Given the description of an element on the screen output the (x, y) to click on. 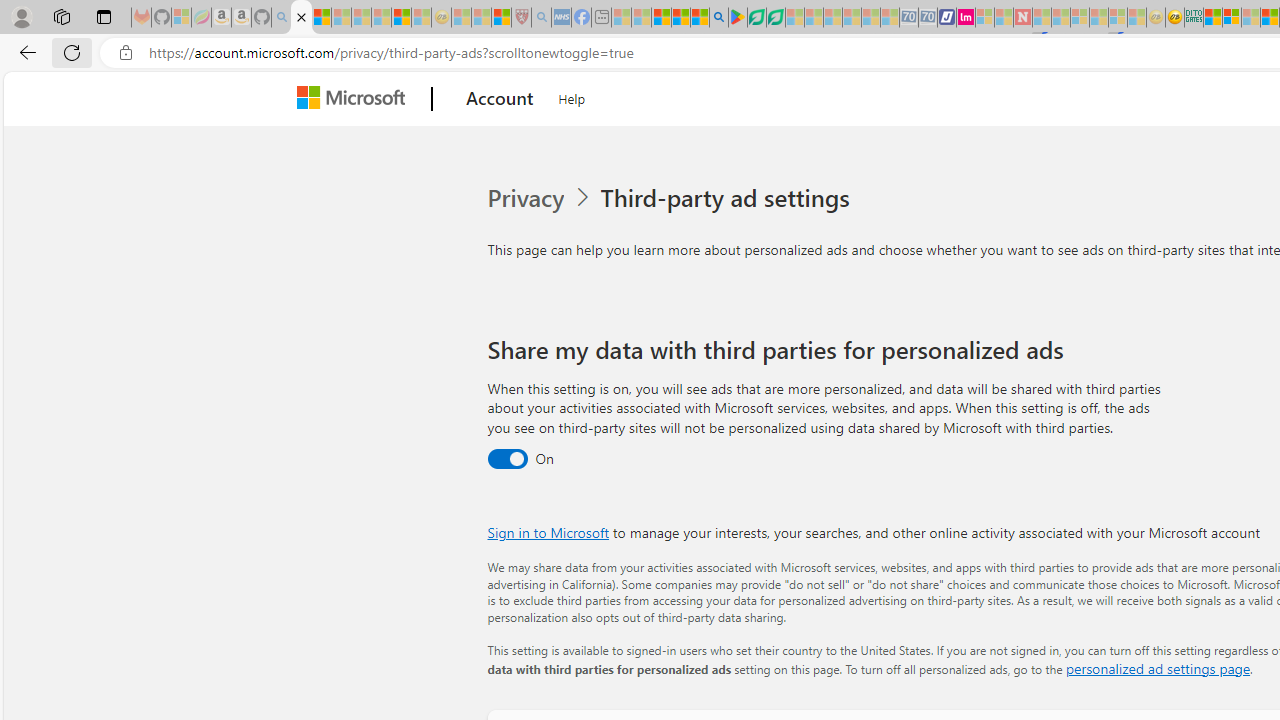
Third-party ad settings (729, 197)
Microsoft Word - consumer-privacy address update 2.2021 (775, 17)
Account (499, 99)
Terms of Use Agreement (756, 17)
